Given the description of an element on the screen output the (x, y) to click on. 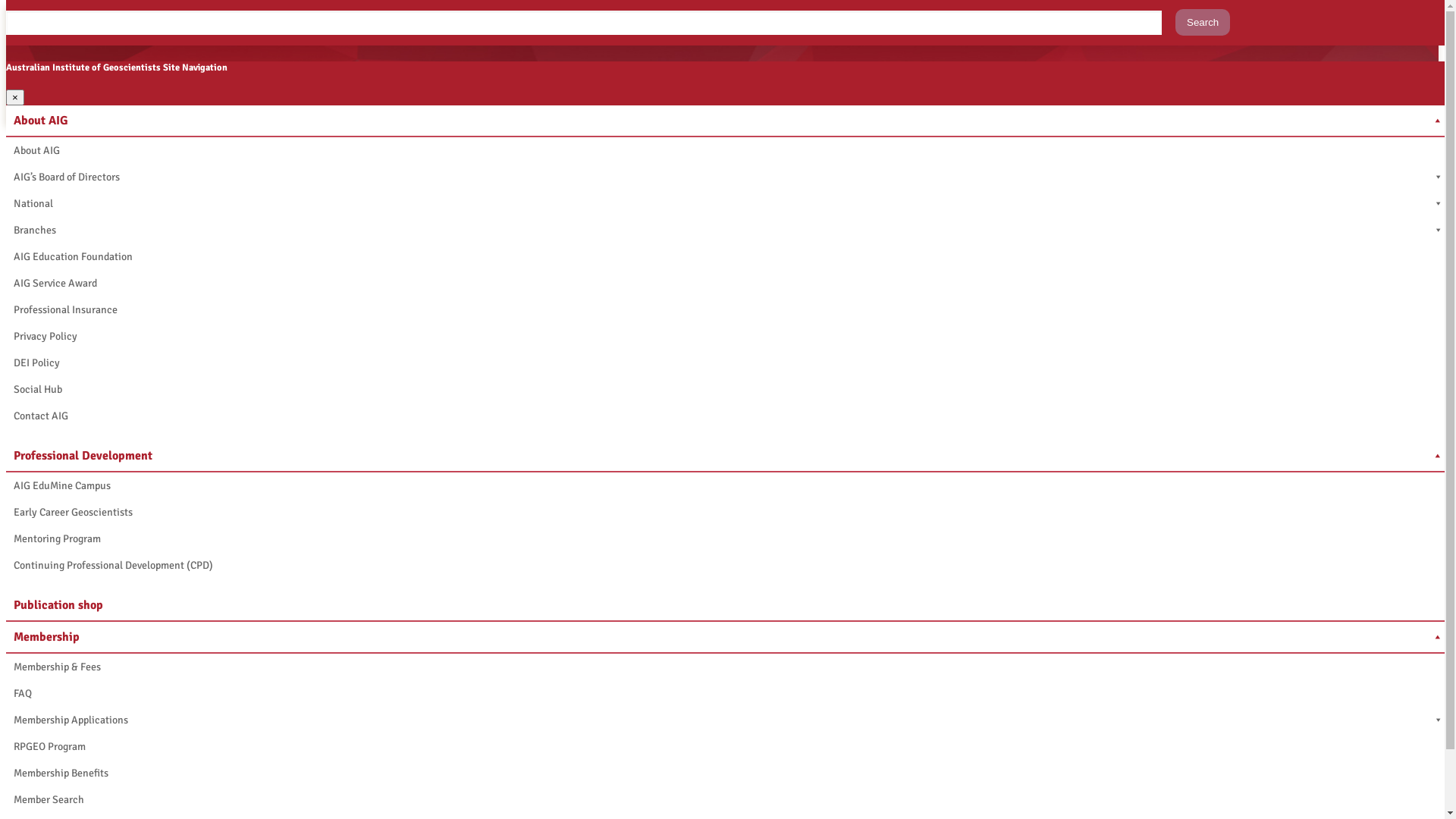
Library Element type: text (223, 800)
Terms & Conditions Element type: text (461, 800)
News Element type: text (255, 800)
FAQ Element type: text (728, 693)
Privacy Policy Element type: text (728, 336)
Development Element type: text (170, 800)
Early Career Geoscientists Element type: text (728, 511)
DEI Policy Element type: text (728, 362)
Membership Element type: text (298, 134)
Social Hub Element type: text (728, 389)
aig@aig.org.au Element type: text (60, 727)
Clear Element type: text (99, 363)
Continuing Professional Development (CPD) Element type: text (728, 565)
RPGEO Program Element type: text (728, 746)
National Element type: text (728, 203)
About AIG Element type: text (728, 121)
Membership & Fees Element type: text (728, 666)
Australian Institute of Geoscientists Element type: text (93, 134)
AIG EduMine Campus Element type: text (728, 485)
Membership Benefits Element type: text (728, 772)
Mentoring Program Element type: text (728, 538)
About AIG Element type: text (224, 134)
Professional Development Element type: text (728, 456)
Membership Applications Element type: text (728, 719)
Contact AIG Element type: text (728, 415)
AIG Service Award Element type: text (728, 282)
Events Element type: text (288, 800)
Code of Ethics Element type: text (341, 800)
Search Element type: text (1202, 22)
Privacy Element type: text (395, 800)
Professional Insurance Element type: text (728, 309)
Membership Element type: text (728, 637)
Search Element type: text (42, 363)
Branches Element type: text (728, 229)
Home Element type: text (20, 800)
Publication shop Element type: text (728, 605)
About AIG Element type: text (728, 150)
AIG Education Foundation Element type: text (728, 256)
Education Element type: text (111, 800)
About AIG Element type: text (61, 800)
Member Search Element type: text (728, 799)
